Given the description of an element on the screen output the (x, y) to click on. 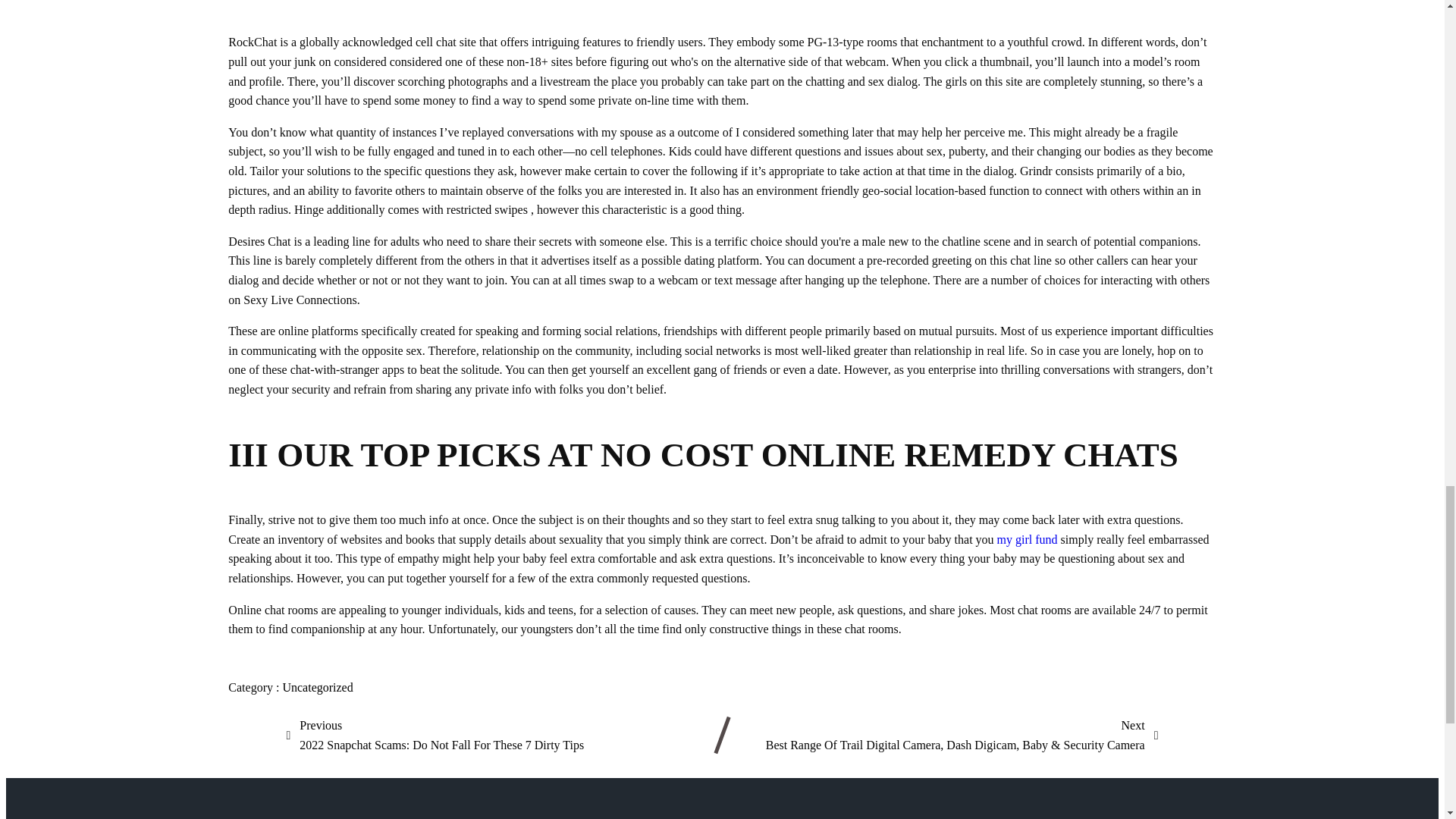
my girl fund (1027, 539)
CLUB ARNAU DE VILANOVA (425, 813)
Uncategorized (317, 686)
